Given the description of an element on the screen output the (x, y) to click on. 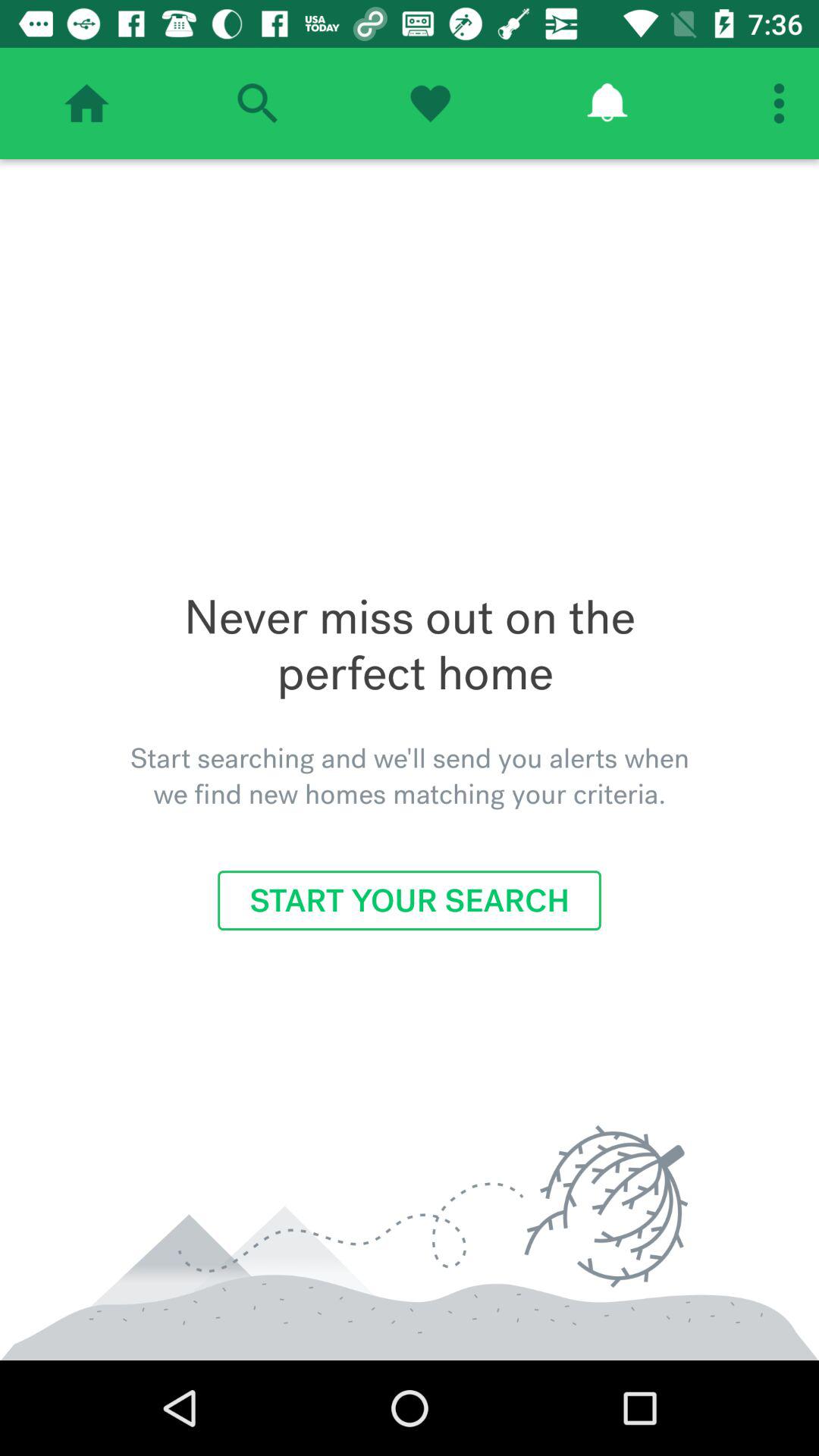
search (257, 103)
